Given the description of an element on the screen output the (x, y) to click on. 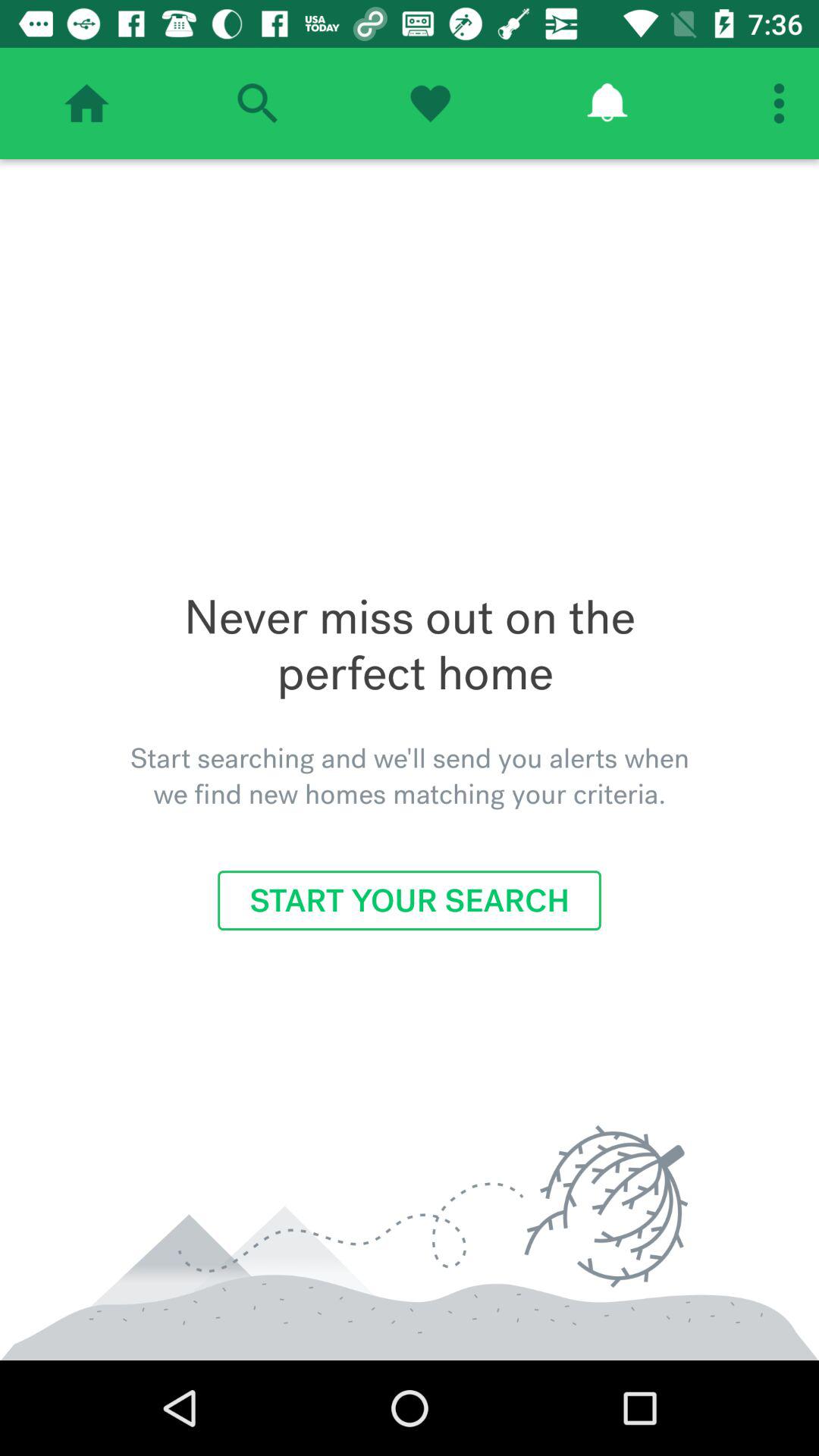
search (257, 103)
